Given the description of an element on the screen output the (x, y) to click on. 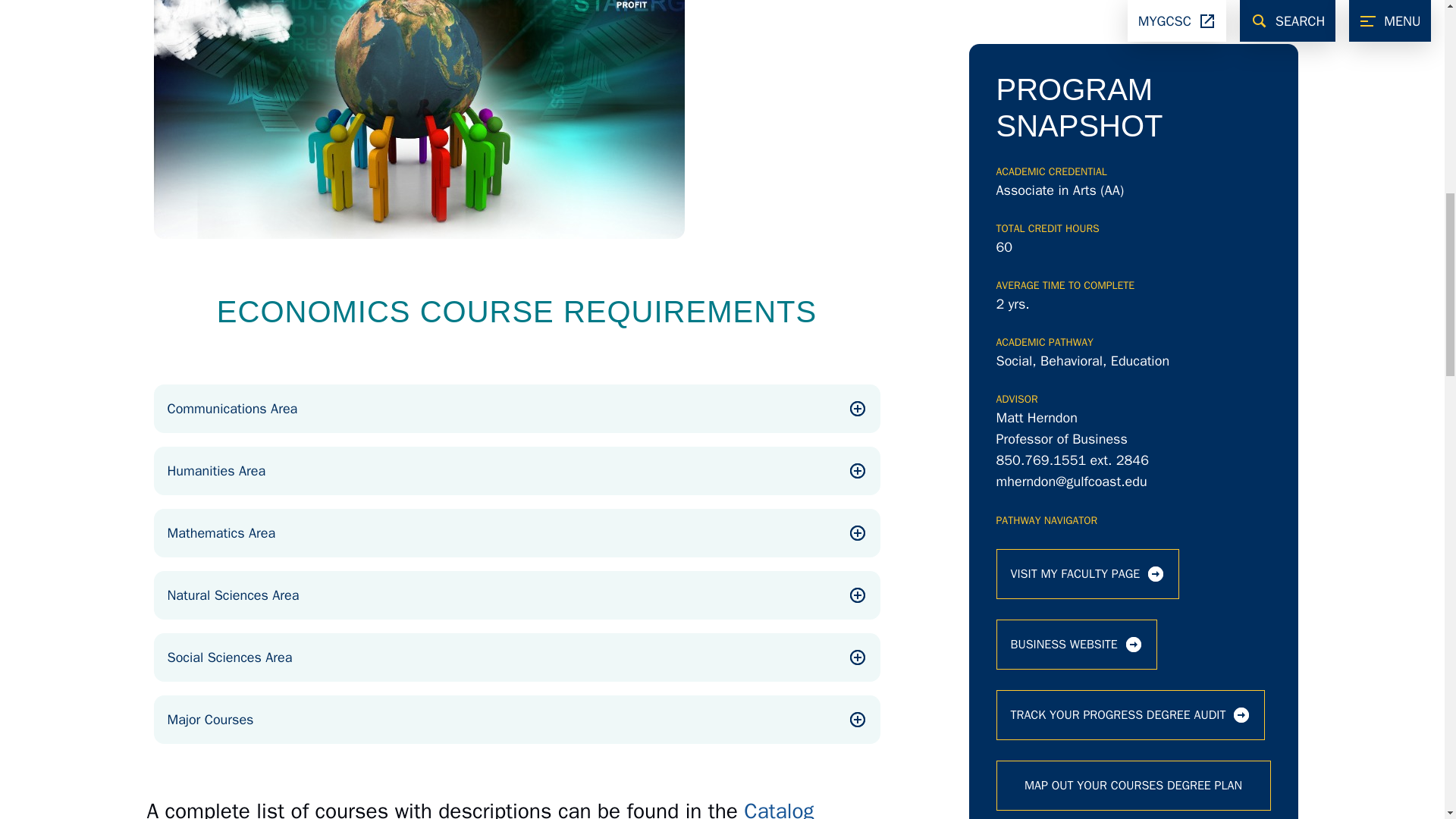
MAP OUT YOUR COURSES DEGREE PLAN (1133, 389)
VISIT MY FACULTY PAGE (1087, 178)
Communications Area (515, 408)
BUSINESS WEBSITE (1076, 248)
Natural Sciences Area (515, 594)
Major Courses (515, 719)
Mathematics Area (515, 532)
Social Sciences Area (515, 657)
Humanities Area (515, 470)
Catalog (778, 808)
TRACK YOUR PROGRESS DEGREE AUDIT (1130, 318)
